Given the description of an element on the screen output the (x, y) to click on. 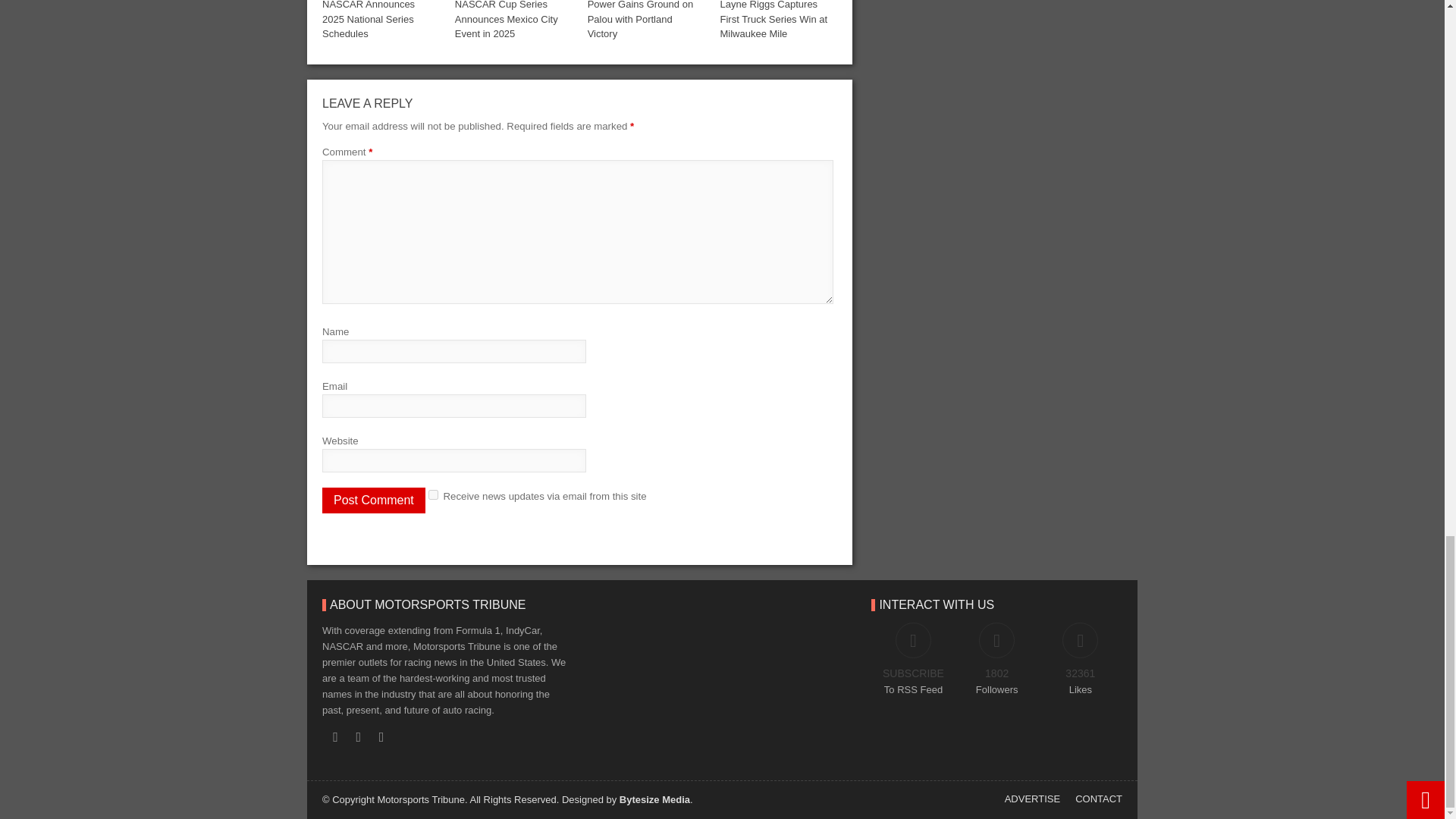
NASCAR Announces 2025 National Series Schedules (367, 19)
Post Comment (373, 500)
Power Gains Ground on Palou with Portland Victory (640, 19)
1 (433, 494)
NASCAR Cup Series Announces Mexico City Event in 2025 (505, 19)
